Given the description of an element on the screen output the (x, y) to click on. 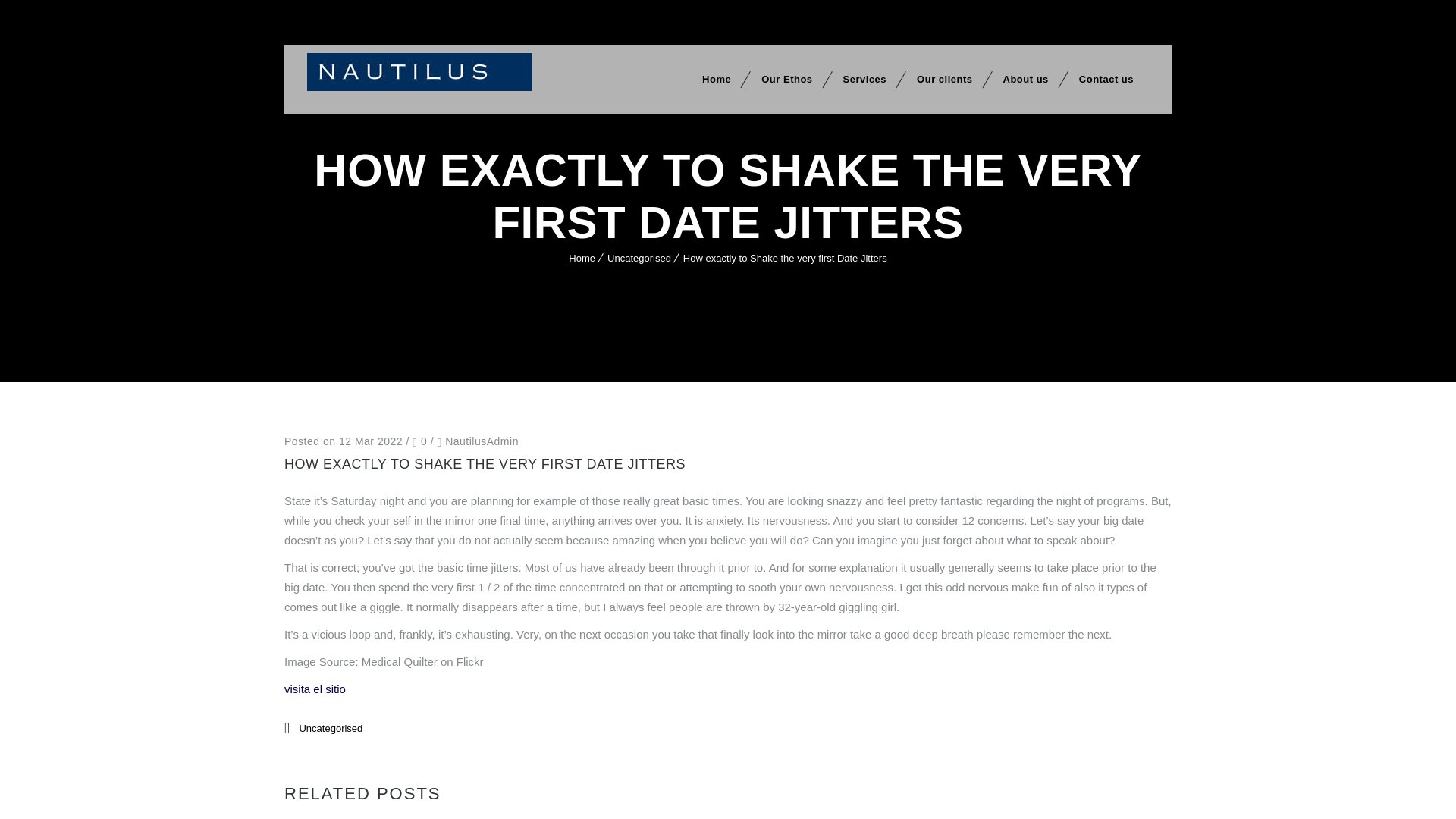
Uncategorised (639, 257)
Our Ethos (786, 79)
Nautilus (419, 71)
Home (582, 257)
View all posts by NautilusAdmin (481, 440)
0 (419, 440)
Nautilus (419, 71)
visita el sitio (314, 688)
Services (865, 79)
